Given the description of an element on the screen output the (x, y) to click on. 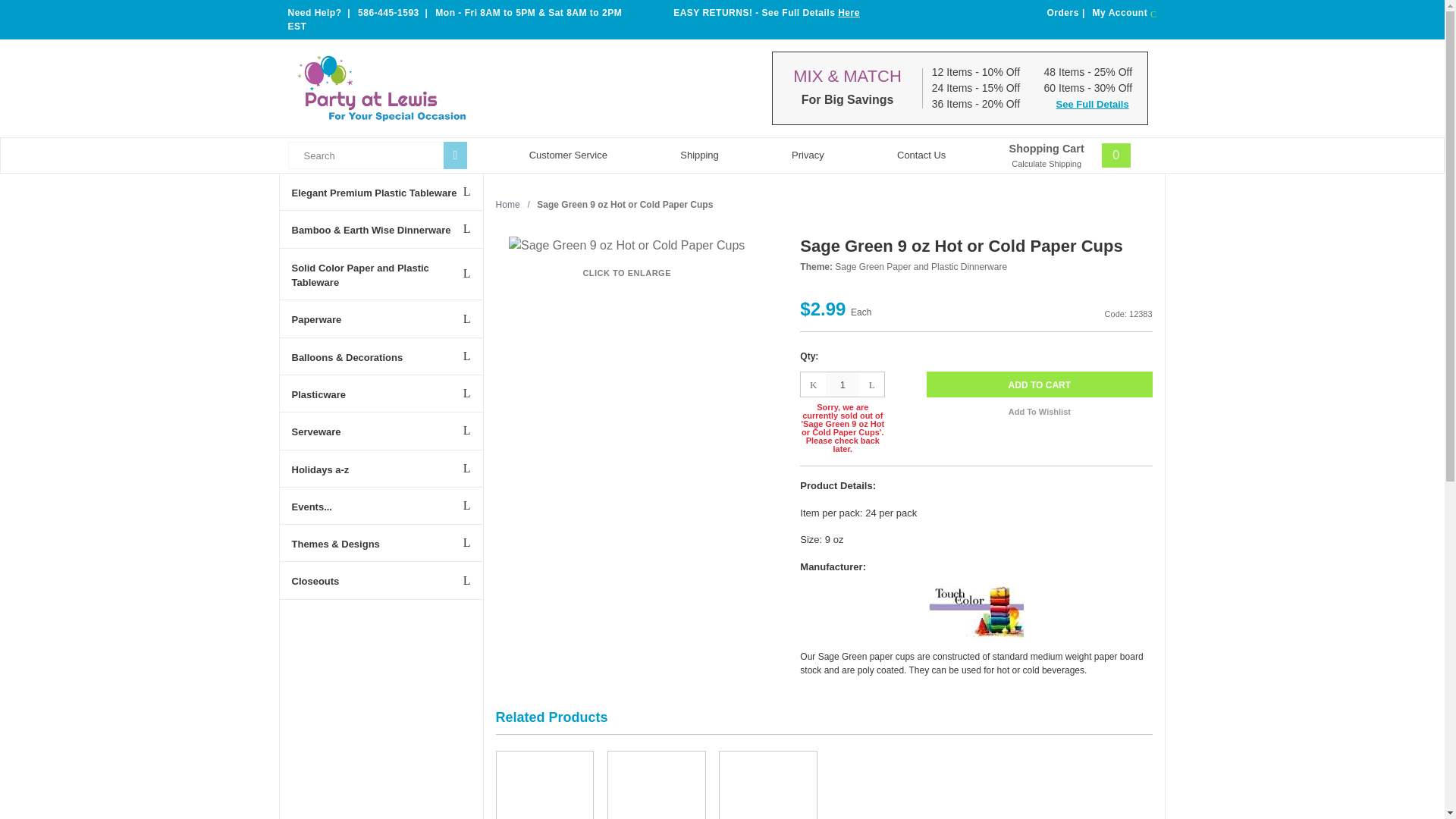
Solid Color Paper and Plastic Tableware (380, 274)
My Account (1125, 13)
Add To Wishlist (1039, 411)
See Full Details (1086, 103)
Elegant Premium Plastic Tableware (380, 191)
Paperware (380, 318)
Here (849, 12)
Privacy (807, 155)
Customer Service (567, 155)
Party at Lewis: For Your Special Occasion (381, 87)
Party at Lewis Elegant Party Supplies (418, 87)
Shipping (699, 155)
Contact Us (1073, 154)
1 (921, 155)
